Given the description of an element on the screen output the (x, y) to click on. 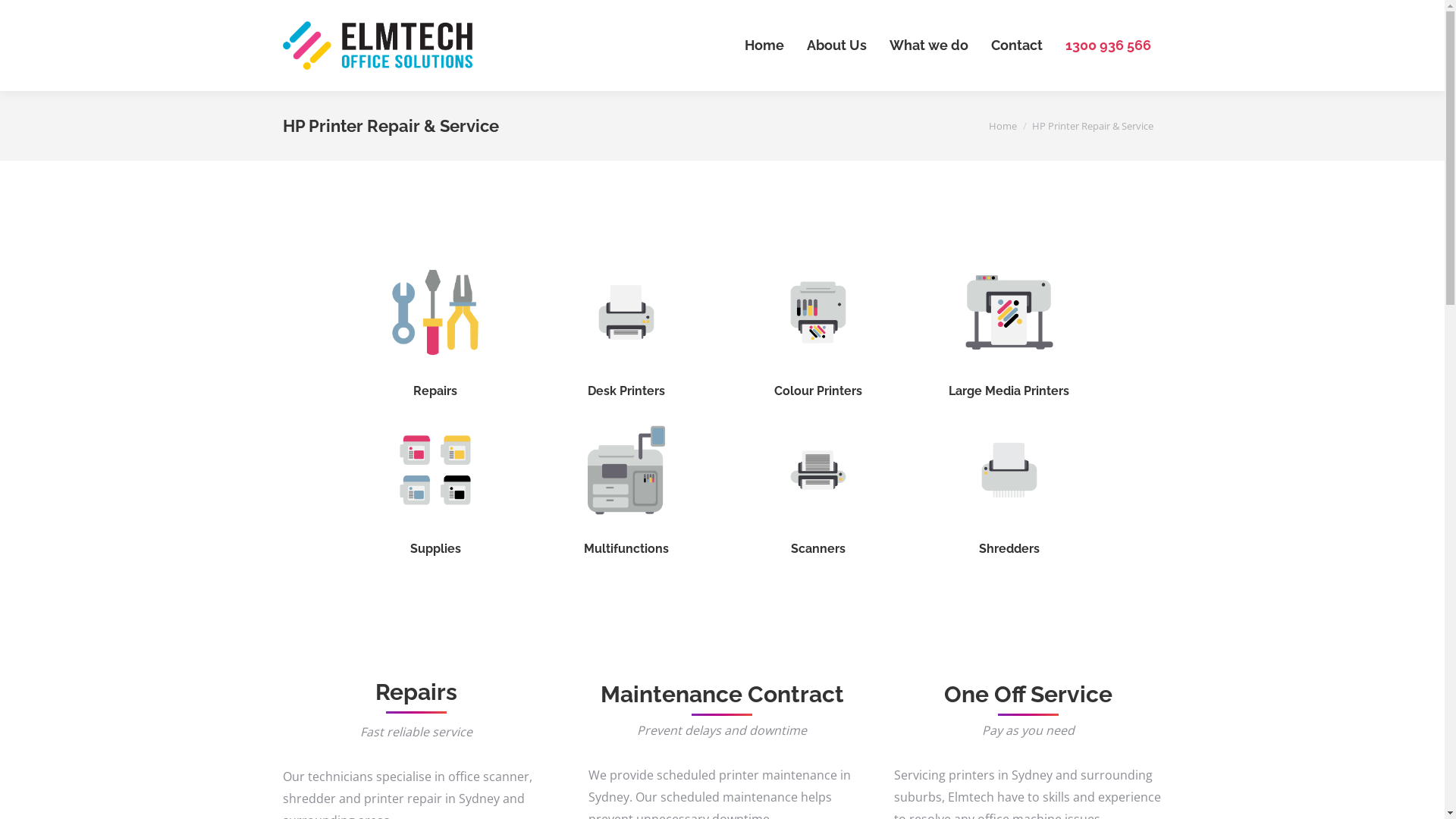
About Us Element type: text (835, 45)
Home Element type: text (763, 45)
What we do Element type: text (928, 45)
Contact Element type: text (1016, 45)
1300 936 566 Element type: text (1108, 45)
Home Element type: text (1002, 125)
